Given the description of an element on the screen output the (x, y) to click on. 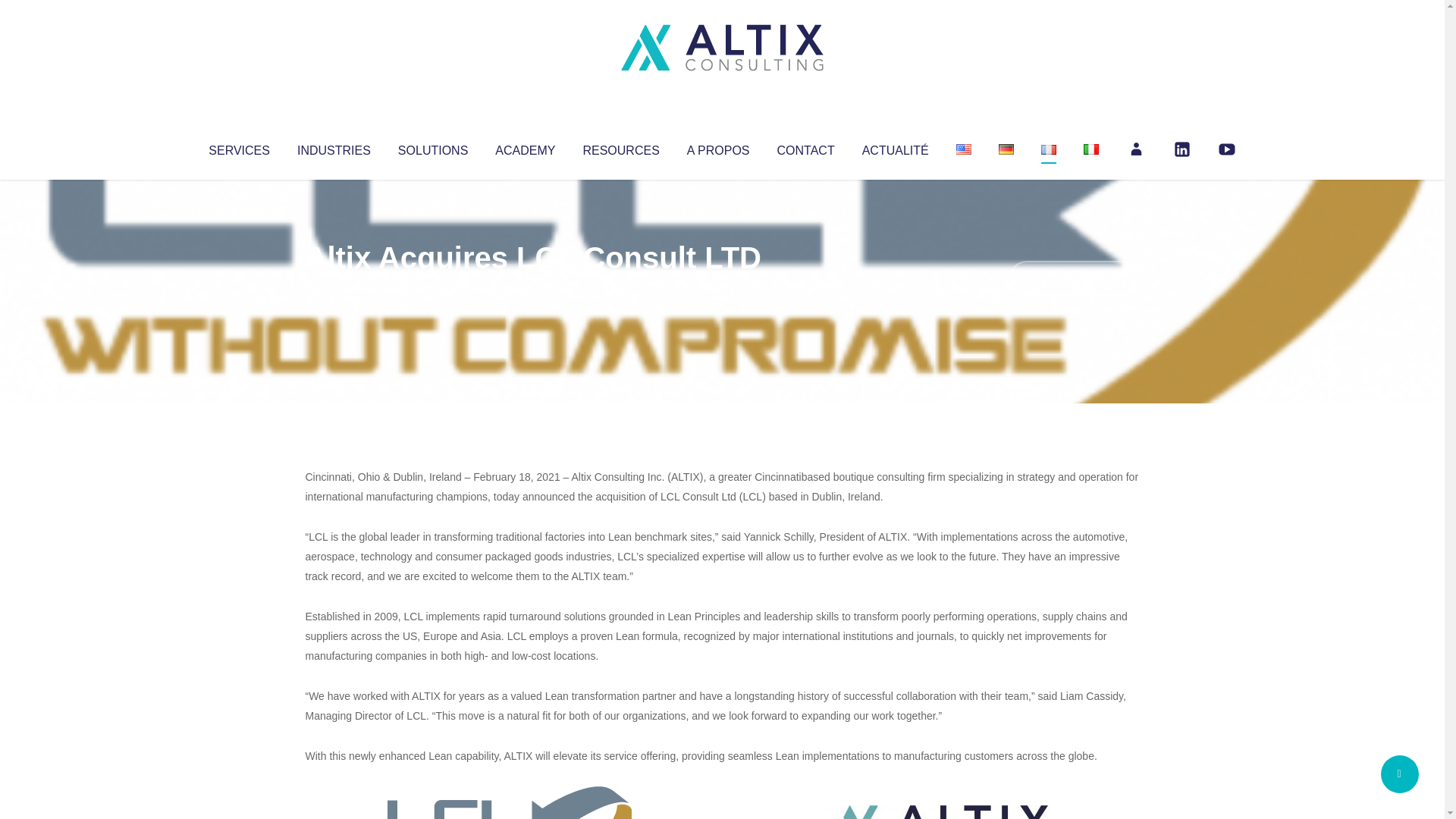
INDUSTRIES (334, 146)
Articles par Altix (333, 287)
RESOURCES (620, 146)
SOLUTIONS (432, 146)
ACADEMY (524, 146)
Altix (333, 287)
SERVICES (238, 146)
A PROPOS (718, 146)
No Comments (1073, 278)
Uncategorized (530, 287)
